Given the description of an element on the screen output the (x, y) to click on. 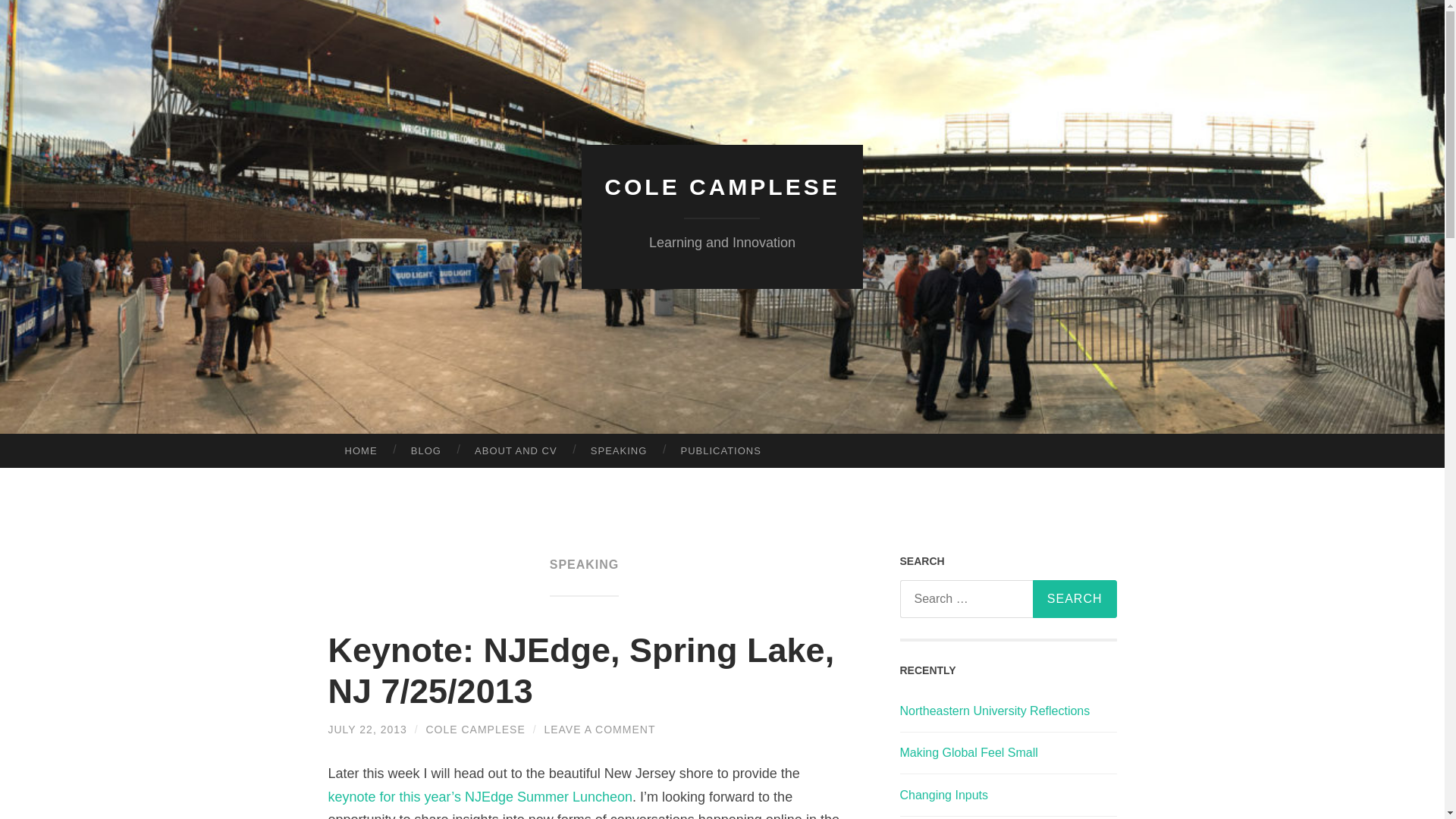
Changing Inputs (943, 794)
Search (1074, 598)
JULY 22, 2013 (366, 729)
Search (1074, 598)
BLOG (426, 451)
PUBLICATIONS (720, 451)
Search (1074, 598)
SKIP TO CONTENT (16, 445)
SPEAKING (618, 451)
HOME (360, 451)
ABOUT AND CV (515, 451)
Northeastern University Reflections (994, 710)
COLE CAMPLESE (475, 729)
COLE CAMPLESE (722, 186)
Making Global Feel Small (967, 752)
